Given the description of an element on the screen output the (x, y) to click on. 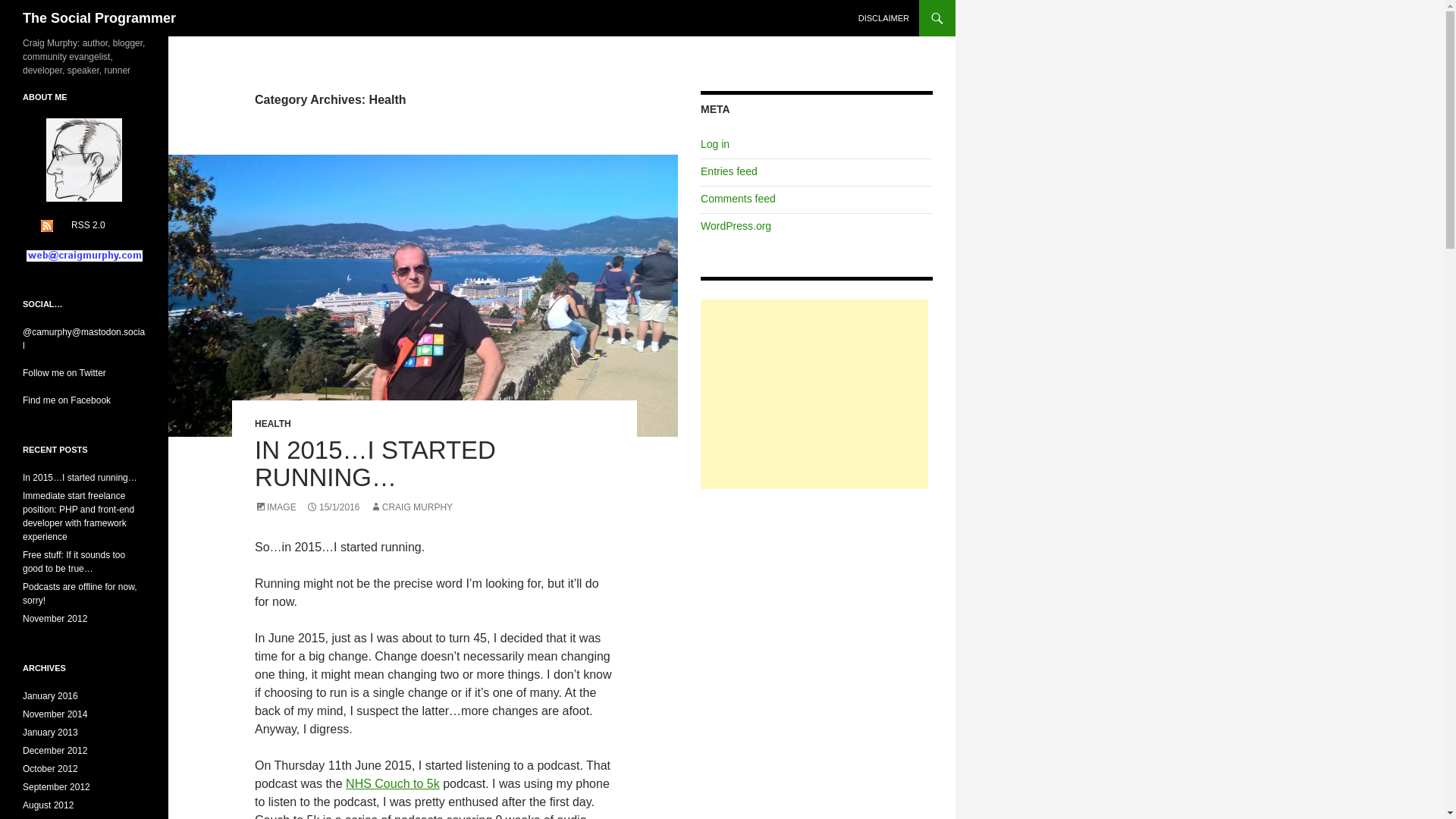
HEALTH (272, 423)
October 2012 (50, 768)
November 2014 (55, 714)
DISCLAIMER (883, 18)
Comments feed (738, 198)
December 2012 (55, 750)
January 2013 (50, 732)
Advertisement (814, 393)
NHS Couch to 5k (392, 783)
Log in (714, 143)
January 2016 (50, 696)
August 2012 (48, 805)
WordPress.org (735, 225)
Follow me on Twitter (64, 372)
